Given the description of an element on the screen output the (x, y) to click on. 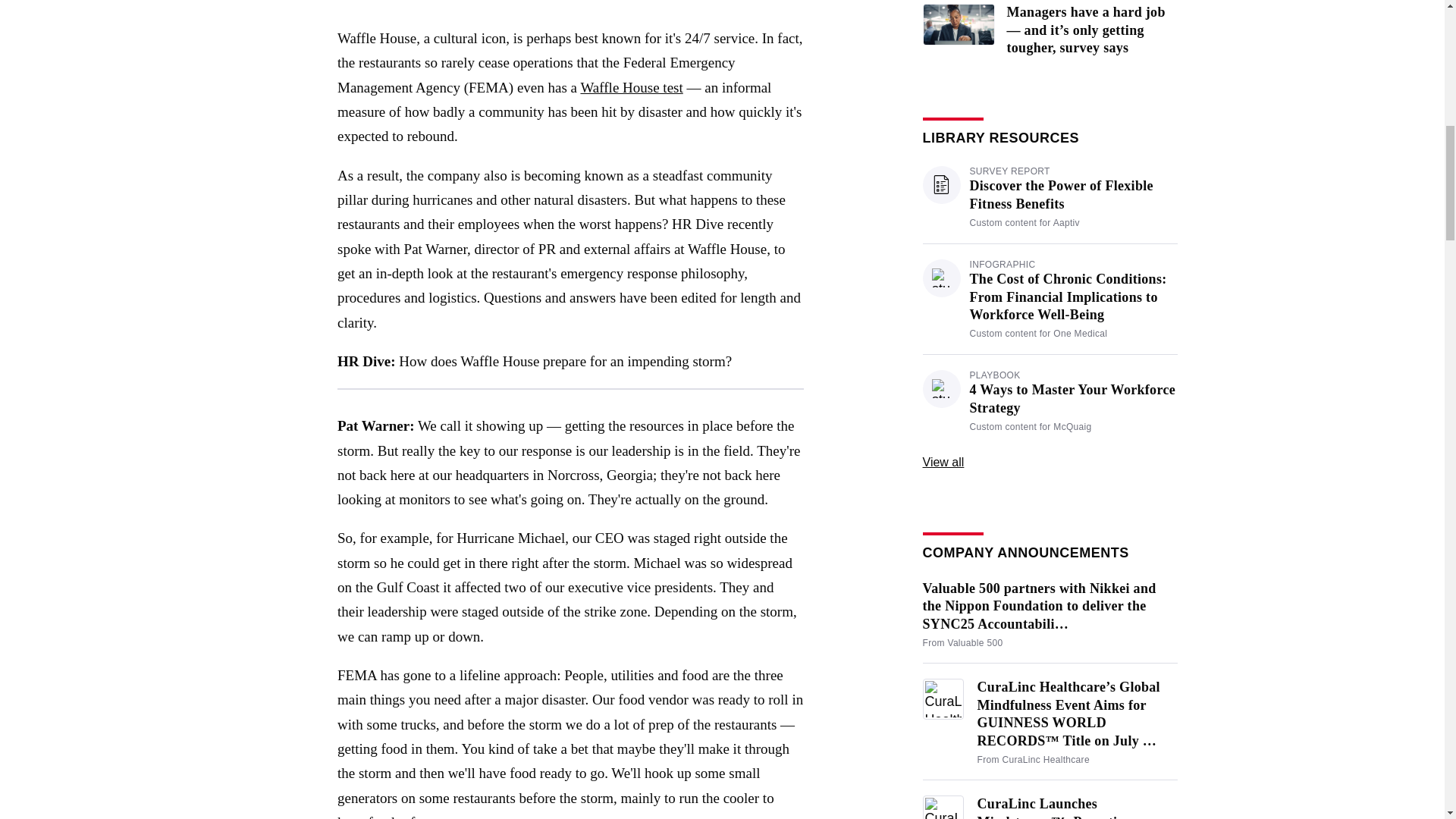
Waffle House test (630, 87)
